Given the description of an element on the screen output the (x, y) to click on. 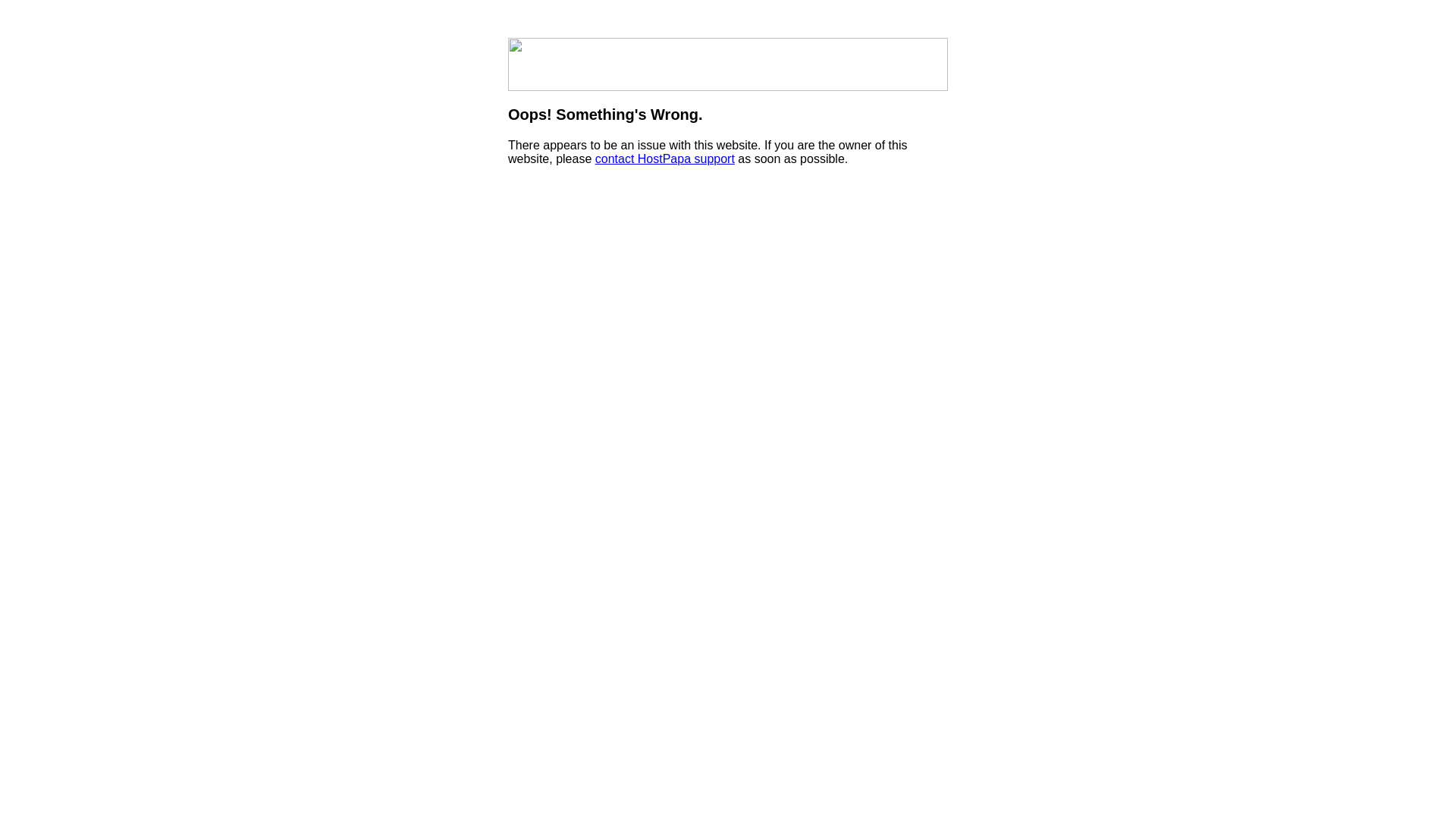
contact HostPapa support Element type: text (664, 158)
